Given the description of an element on the screen output the (x, y) to click on. 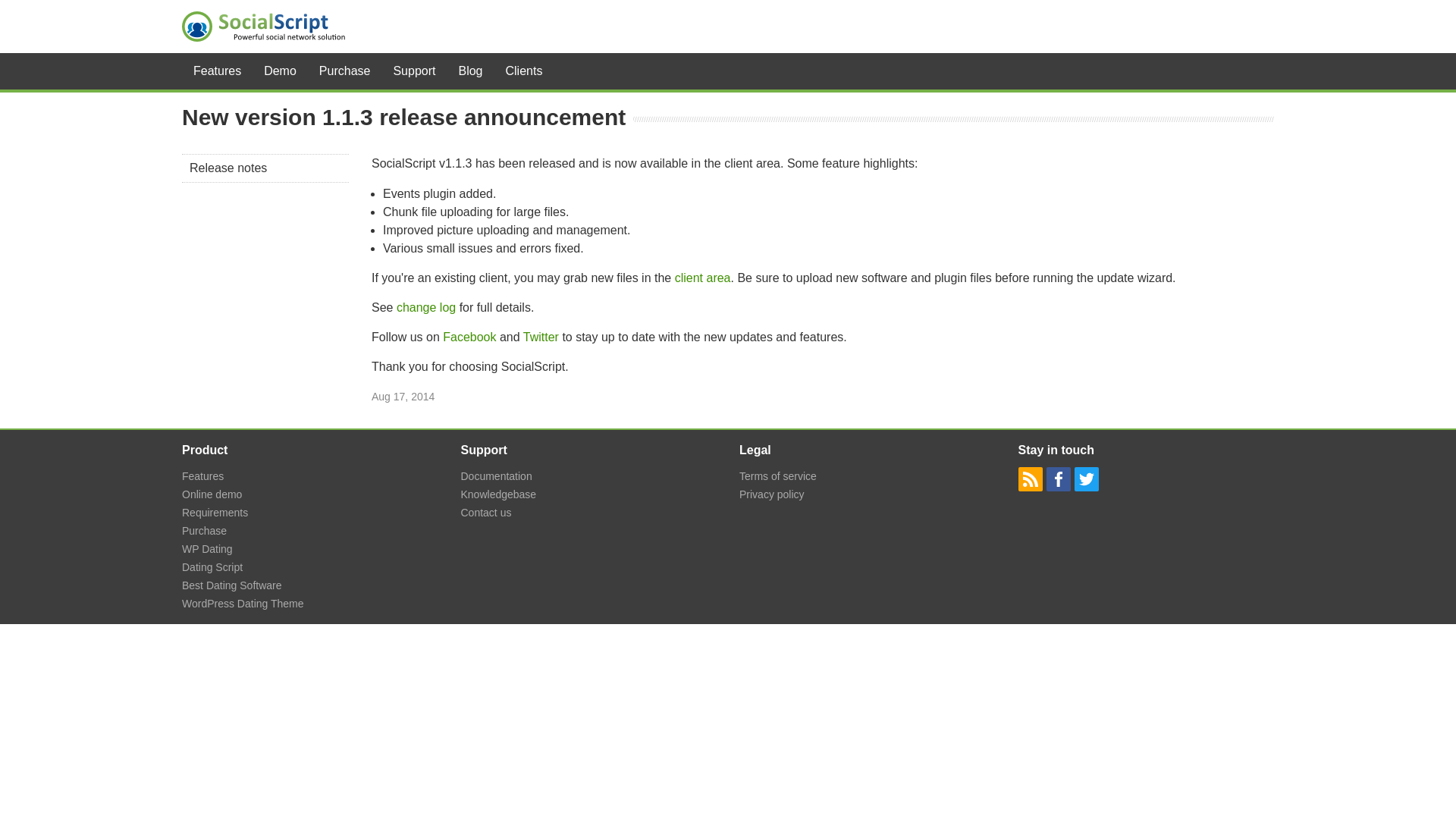
WordPress Dating Theme (243, 603)
Clients (524, 71)
Best Dating Software (232, 585)
Features (203, 476)
RSS feed (1029, 478)
Release notes (265, 167)
Twitter (1085, 478)
Features (216, 71)
client area (702, 277)
Twitter (540, 336)
